Given the description of an element on the screen output the (x, y) to click on. 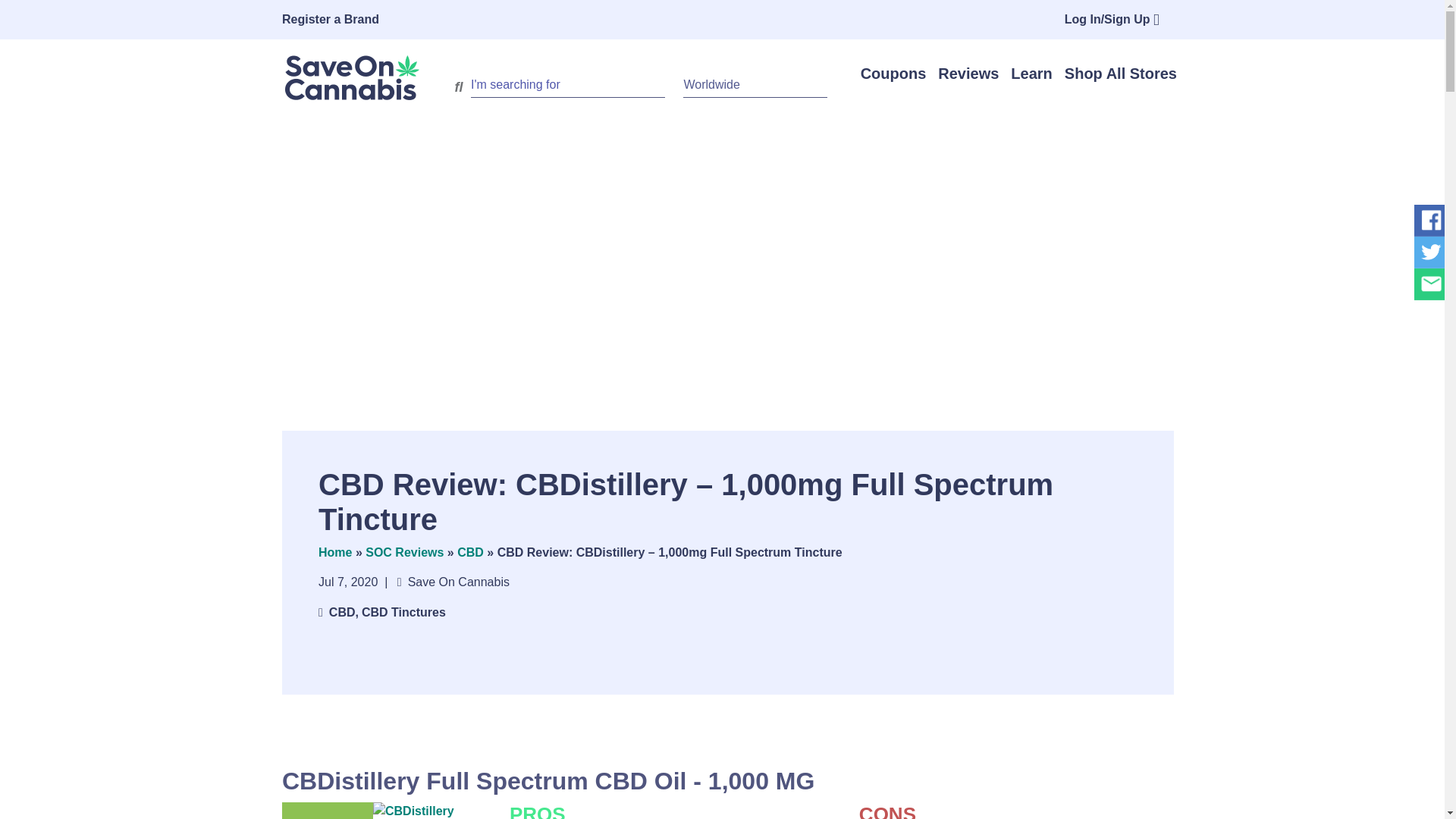
Submit Search (458, 86)
Coupons (893, 73)
Coupons (893, 73)
Worldwide (754, 85)
Register a Brand (342, 19)
Worldwide (754, 85)
Register a Brand (342, 19)
